Given the description of an element on the screen output the (x, y) to click on. 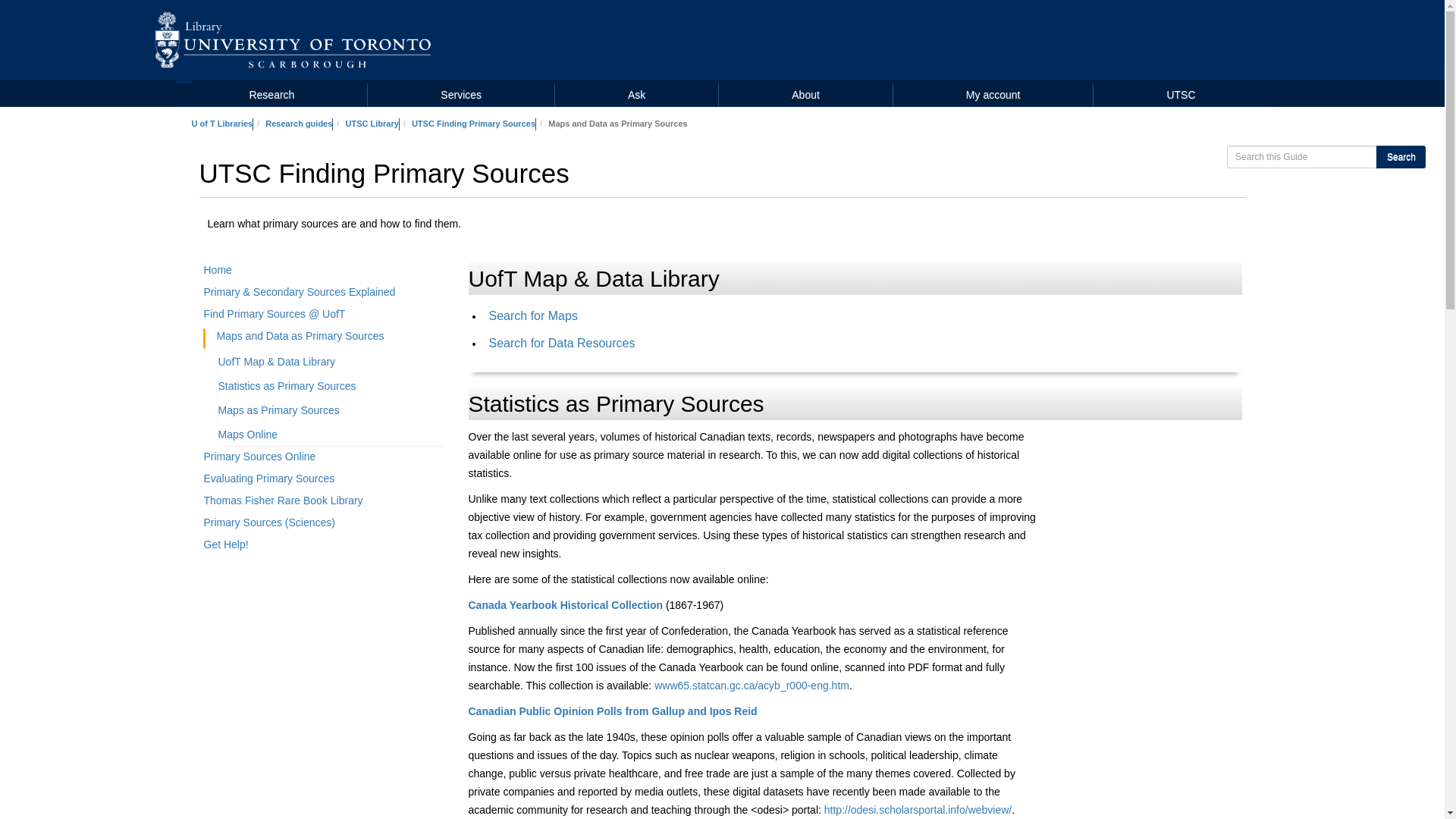
Search (1400, 156)
About (805, 94)
Search for Maps (531, 315)
UTSC Finding Primary Sources (473, 123)
Maps as Primary Sources (284, 412)
Maps Online (253, 436)
Get Help! (324, 547)
Research (271, 94)
Services (461, 94)
Search for Data Resources (560, 342)
My account (993, 94)
Evaluating Primary Sources (324, 480)
UTSC Library (371, 123)
U of T Libraries (220, 123)
Ask (635, 94)
